Given the description of an element on the screen output the (x, y) to click on. 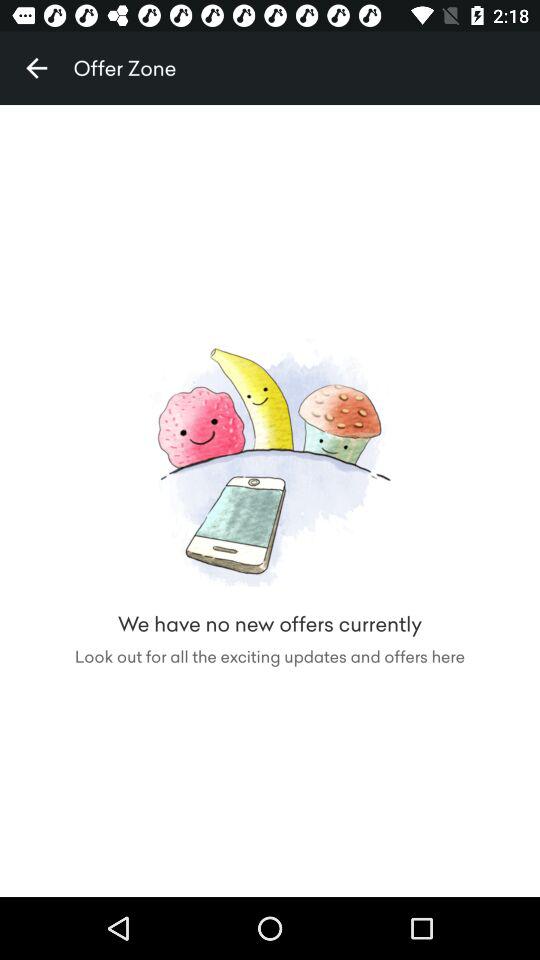
open the icon above the look out for icon (36, 67)
